Given the description of an element on the screen output the (x, y) to click on. 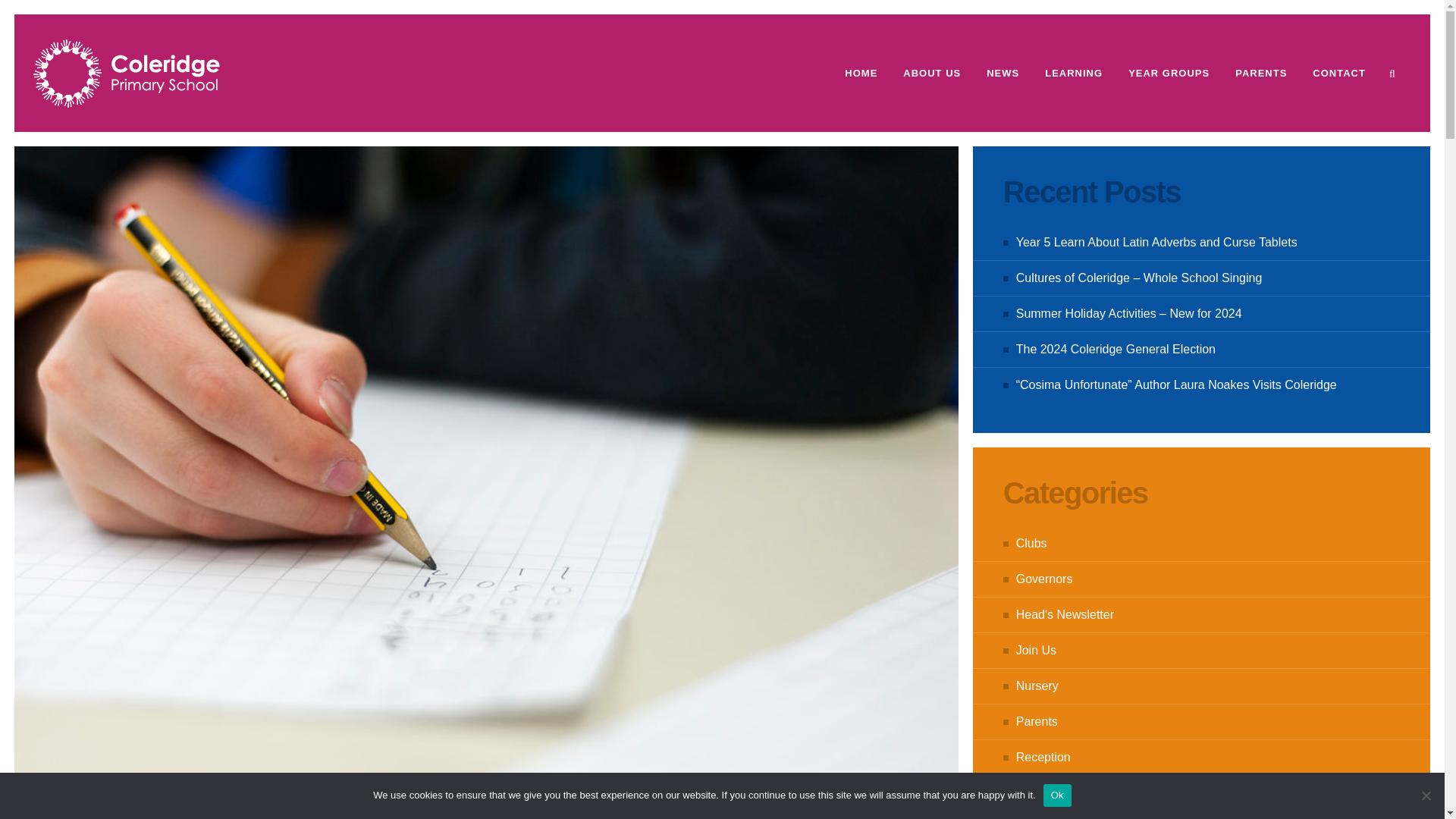
No (1425, 795)
